Given the description of an element on the screen output the (x, y) to click on. 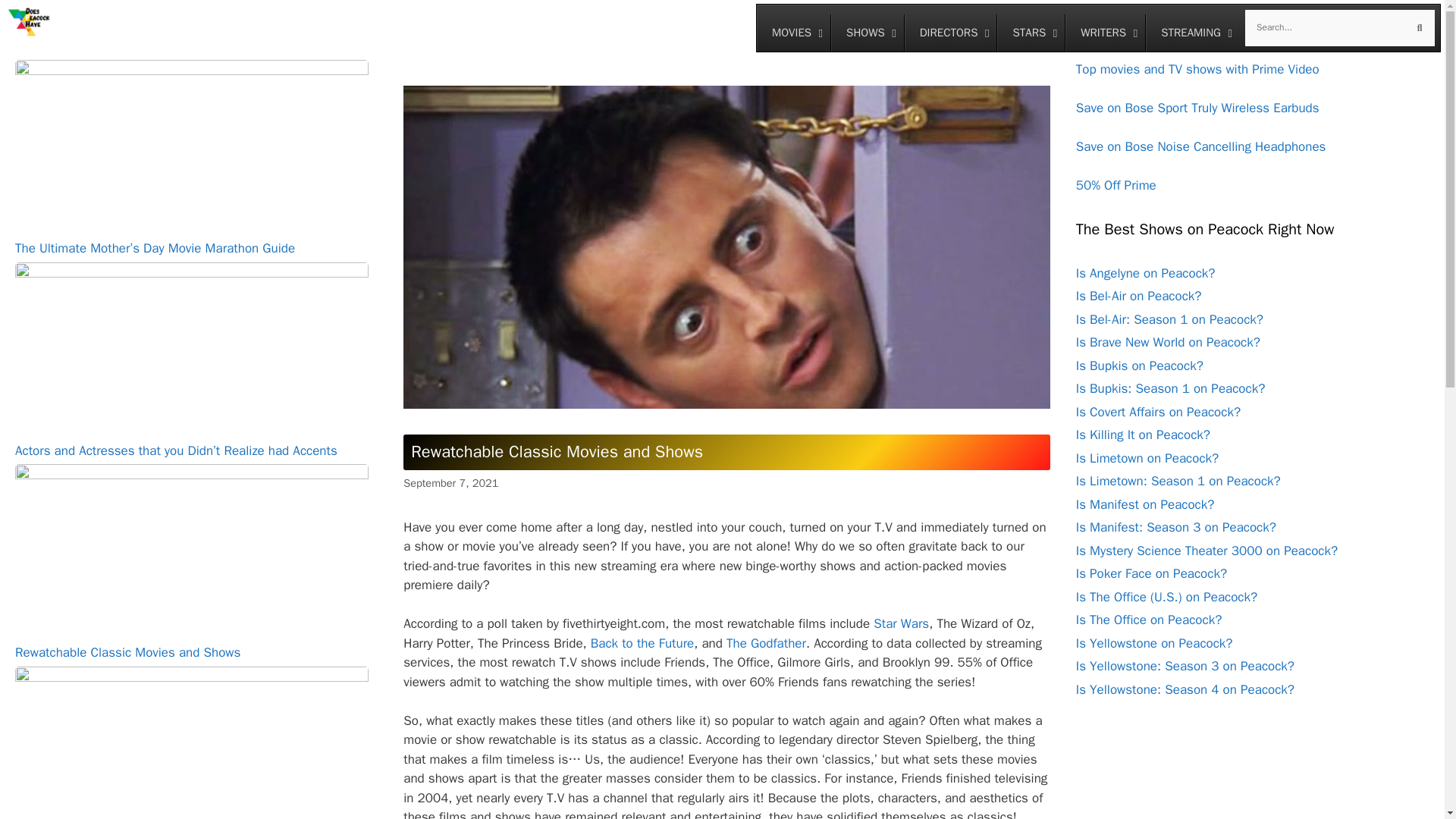
SHOWS (866, 32)
MOVIES (1098, 28)
DIRECTORS (793, 32)
